Given the description of an element on the screen output the (x, y) to click on. 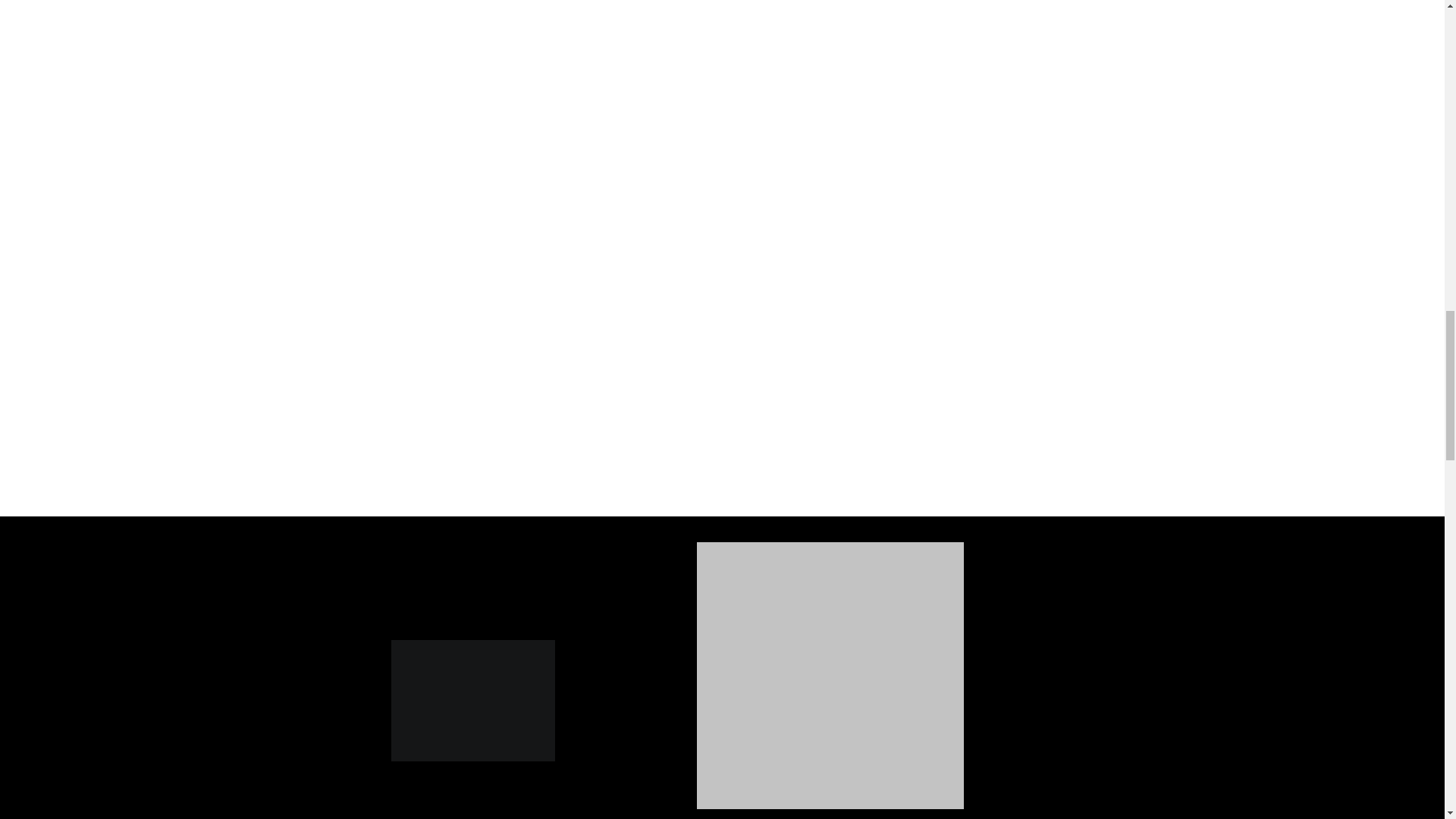
Sussex Shooting (472, 699)
